Given the description of an element on the screen output the (x, y) to click on. 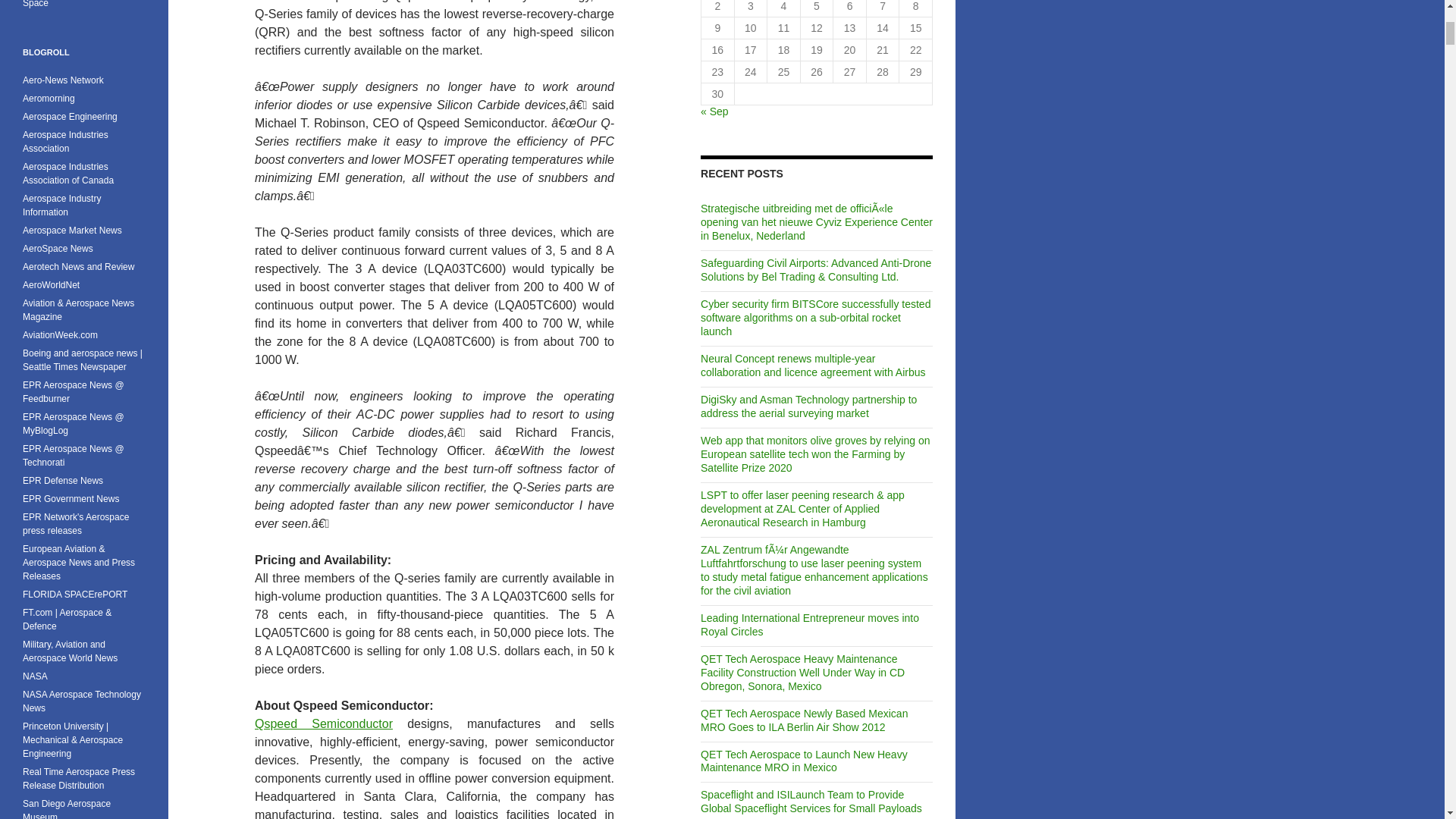
Qspeed Semiconductor (323, 723)
